Given the description of an element on the screen output the (x, y) to click on. 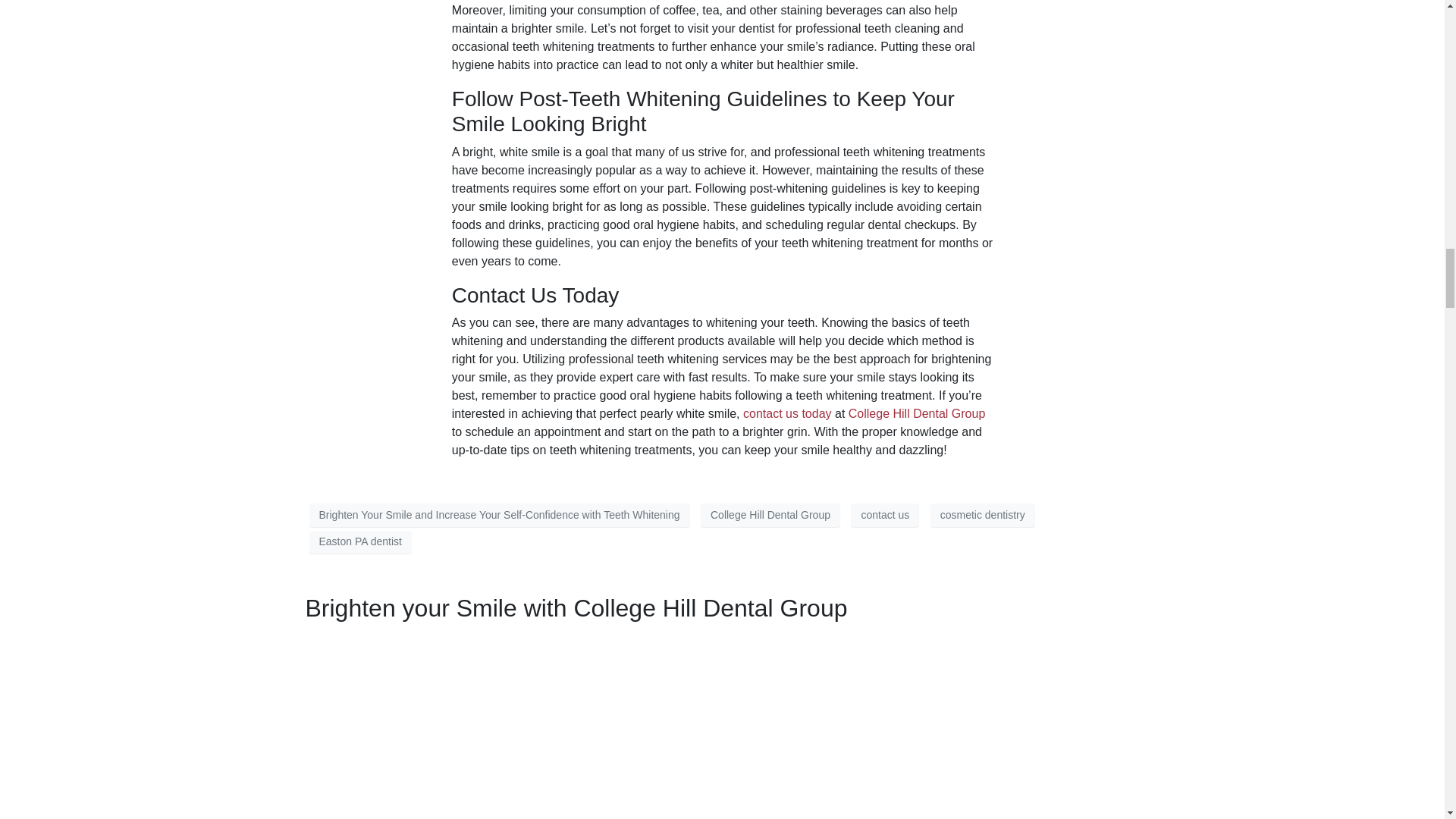
Brighten your Smile with College Hill Dental Group (575, 607)
